Given the description of an element on the screen output the (x, y) to click on. 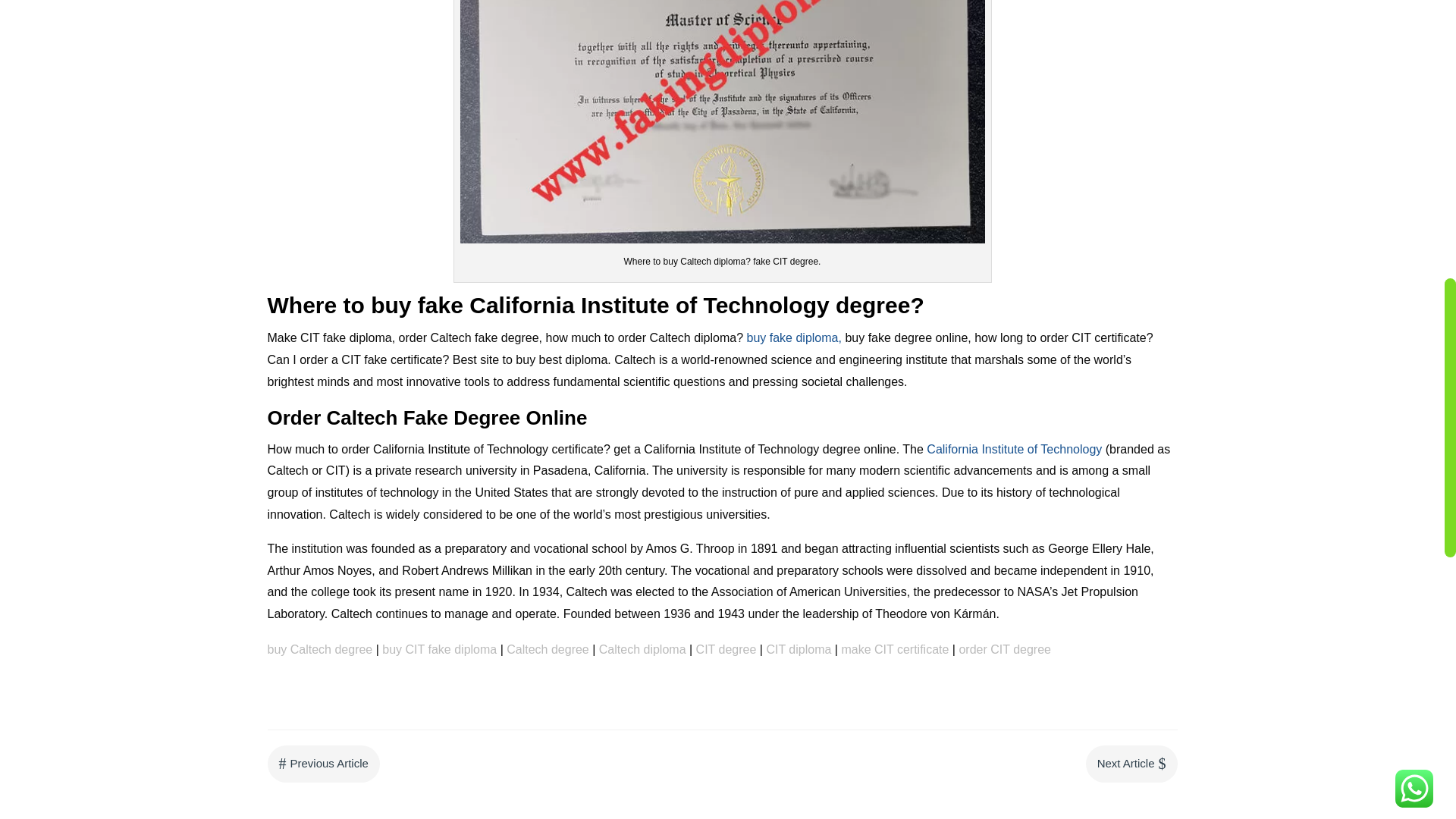
California Institute of Technology (1014, 449)
buy fake diploma, (793, 337)
buy CIT fake diploma (438, 649)
make CIT certificate (895, 649)
Caltech diploma (641, 649)
CIT diploma (798, 649)
buy Caltech degree (319, 649)
Caltech degree (547, 649)
CIT degree (726, 649)
order CIT degree (1004, 649)
